Given the description of an element on the screen output the (x, y) to click on. 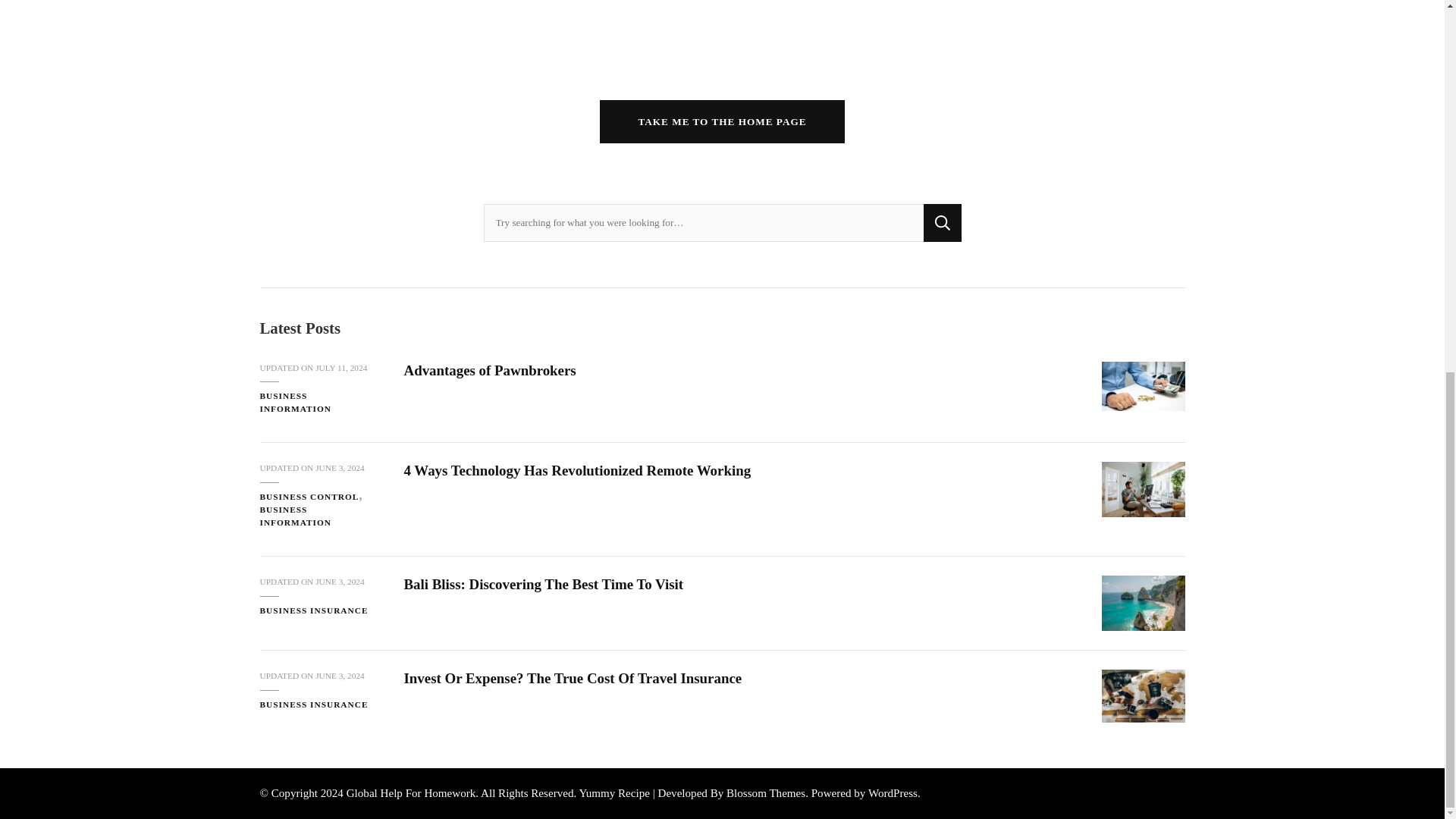
Invest Or Expense? The True Cost Of Travel Insurance (1142, 695)
Search (941, 222)
JULY 11, 2024 (340, 367)
Bali Bliss: Discovering The Best Time To Visit (1142, 602)
Search (941, 222)
BUSINESS INFORMATION (319, 402)
Search (941, 222)
4 Ways Technology Has Revolutionized Remote Working (1142, 488)
TAKE ME TO THE HOME PAGE (721, 121)
Advantages of Pawnbrokers (1142, 386)
